Given the description of an element on the screen output the (x, y) to click on. 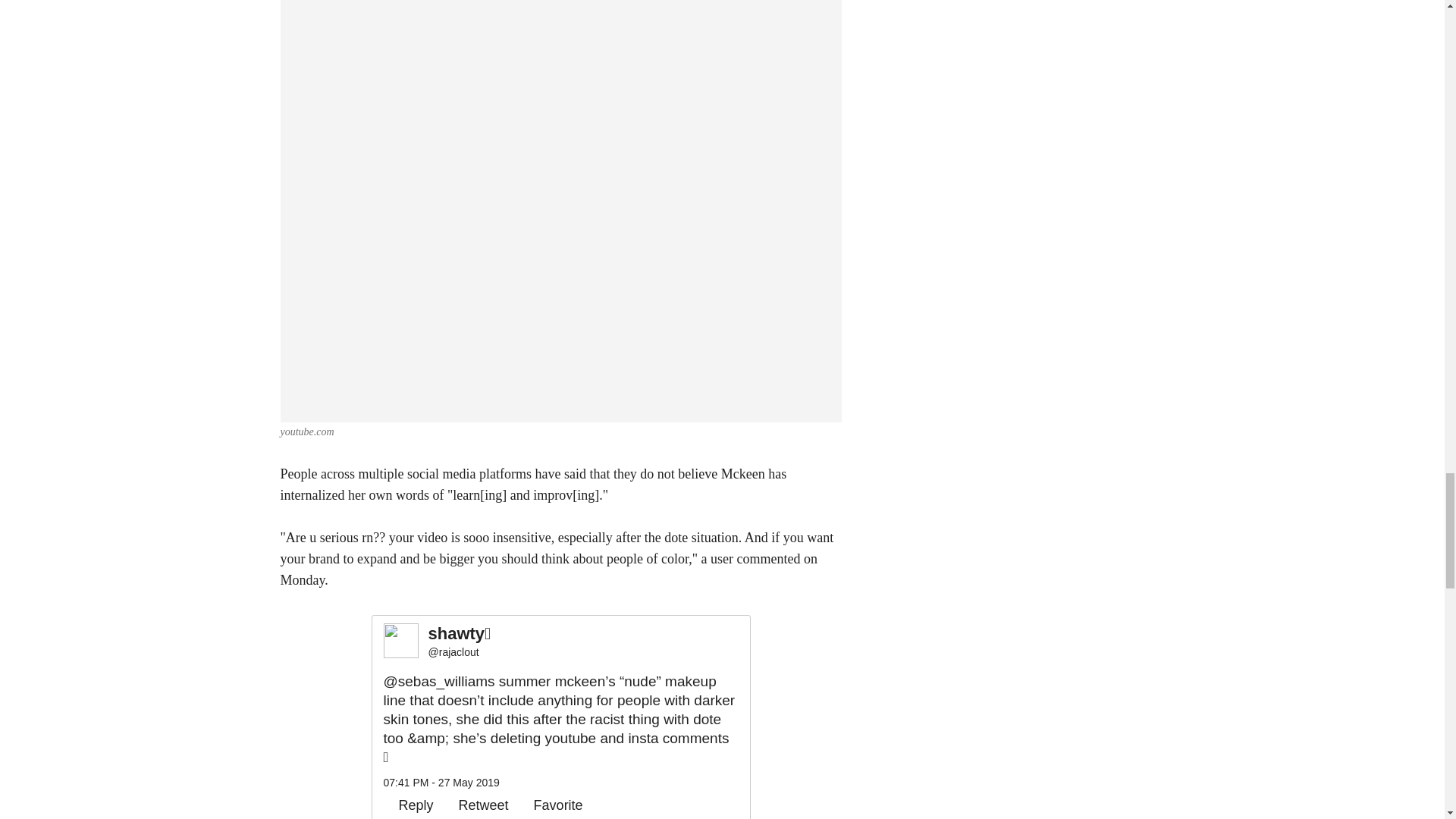
Reply (408, 805)
youtube.com (307, 431)
07:41 PM - 27 May 2019 (441, 782)
Favorite (550, 805)
Retweet (476, 805)
